Given the description of an element on the screen output the (x, y) to click on. 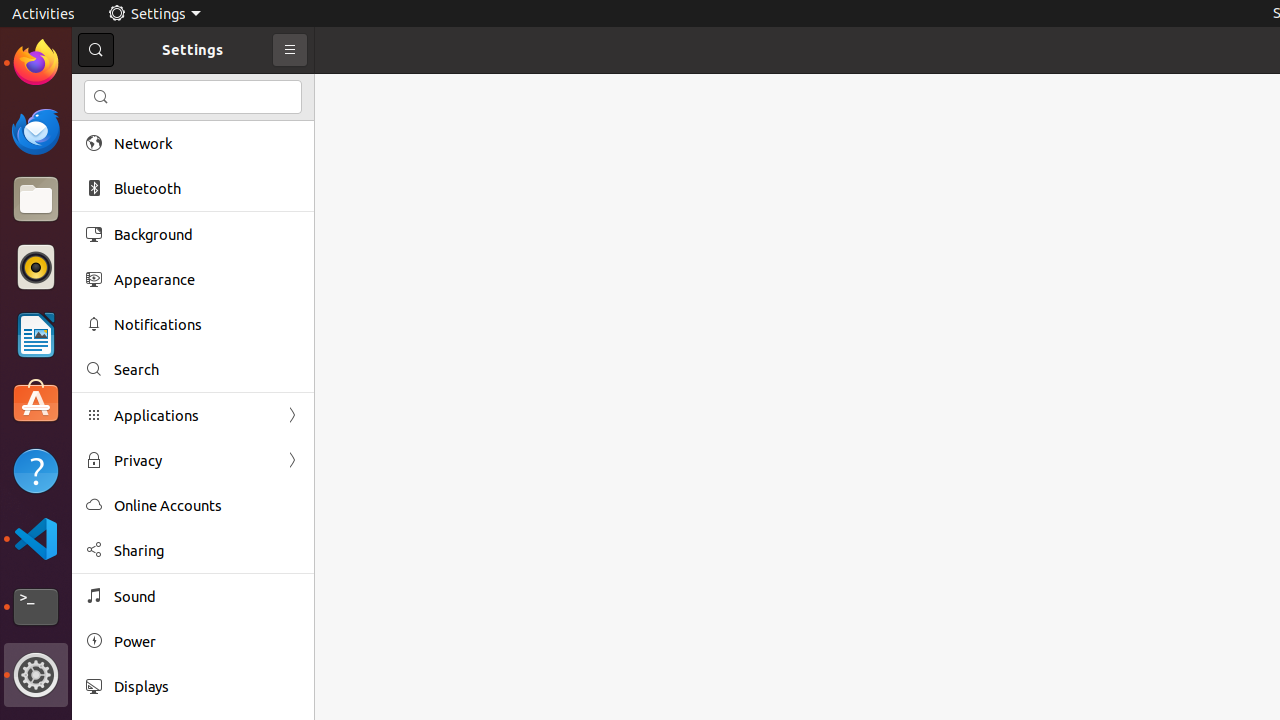
li.txt Element type: label (259, 89)
Background Element type: label (207, 234)
Trash Element type: label (133, 191)
Settings Element type: push-button (36, 675)
